Given the description of an element on the screen output the (x, y) to click on. 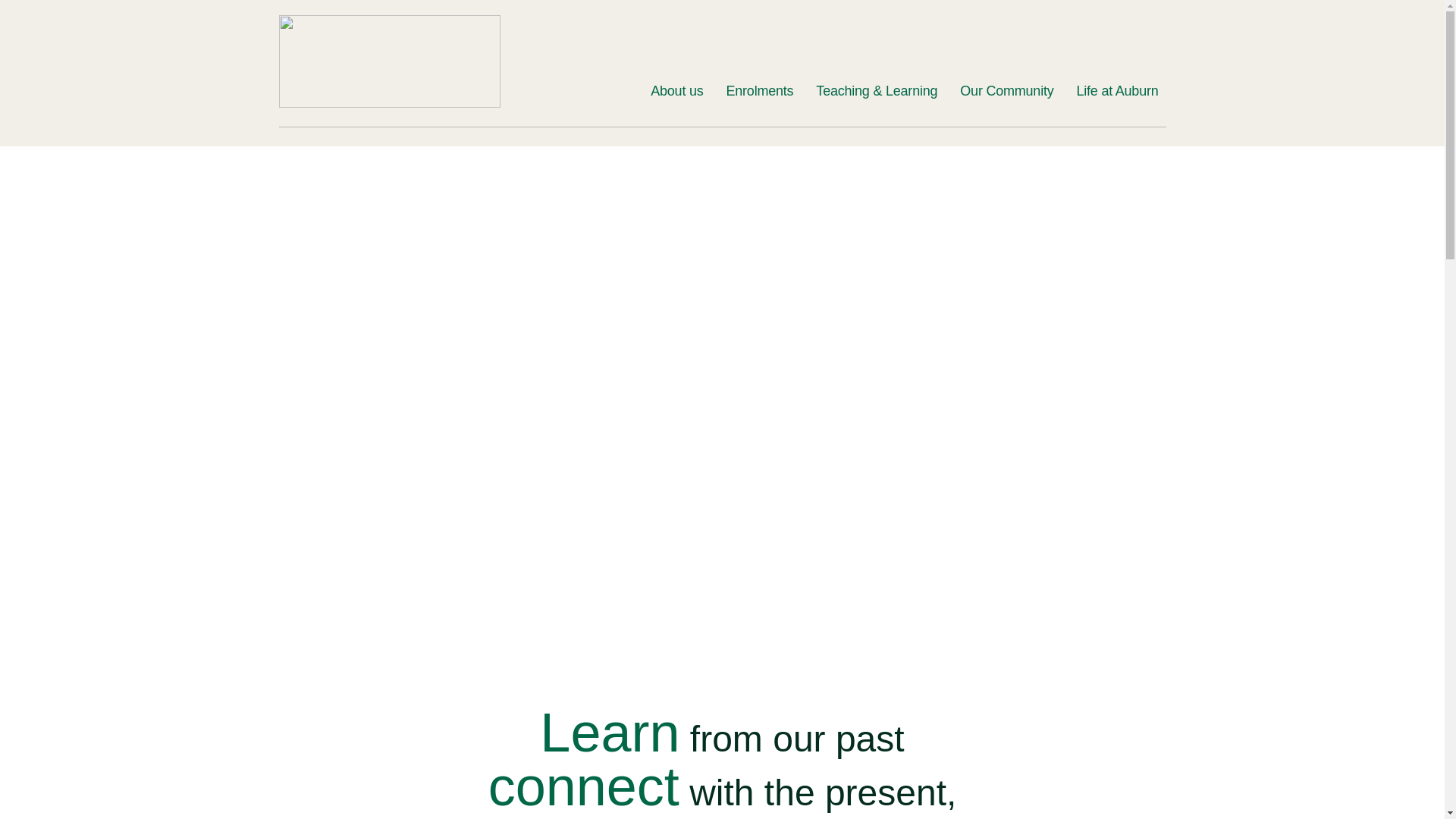
Our Community (1005, 91)
Enrolments (759, 91)
Life at Auburn (1116, 91)
About us (676, 91)
